Given the description of an element on the screen output the (x, y) to click on. 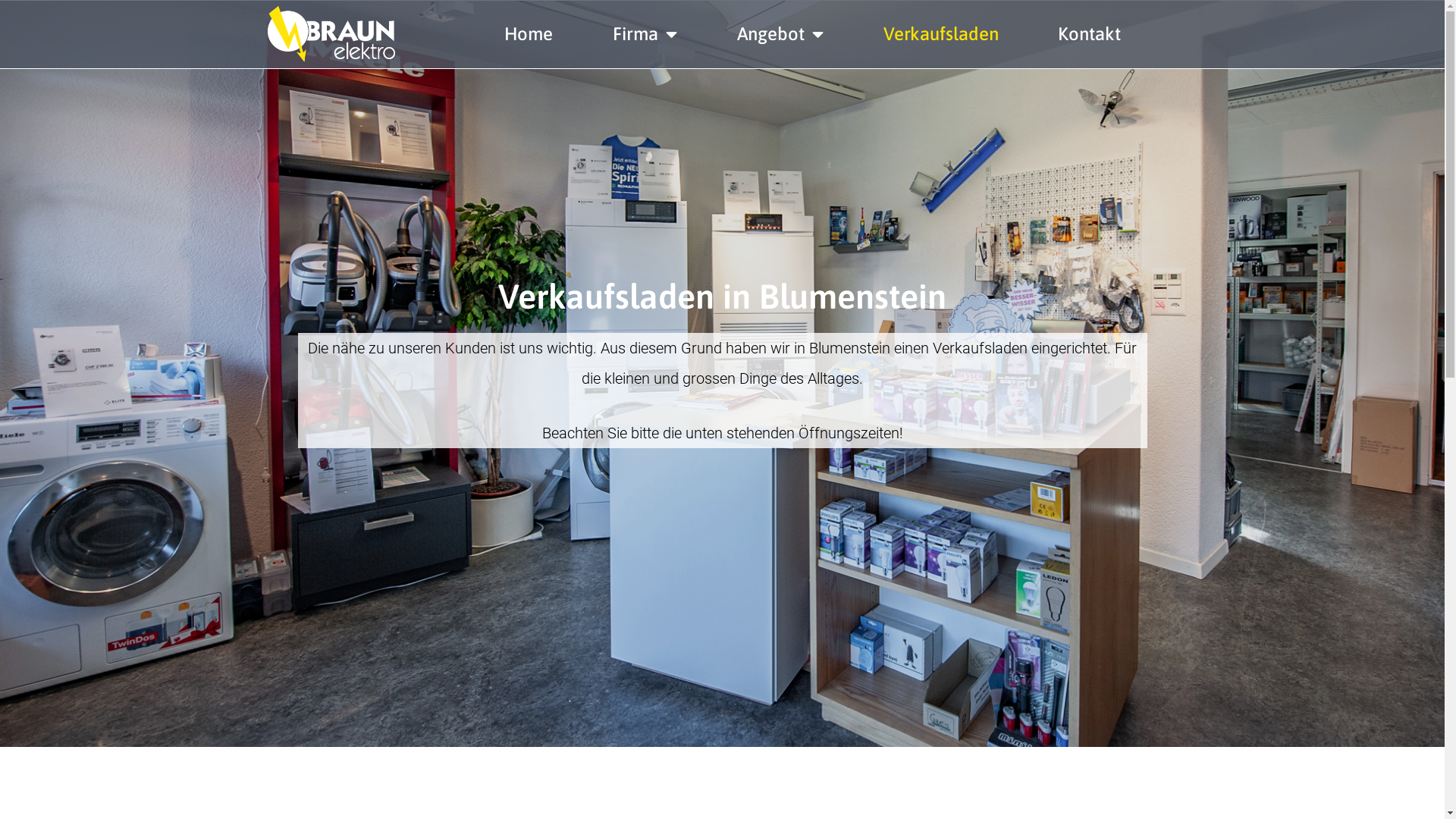
Verkaufsladen Element type: text (940, 34)
Firma Element type: text (644, 34)
Kontakt Element type: text (1088, 34)
Angebot Element type: text (780, 34)
Home Element type: text (527, 34)
